Given the description of an element on the screen output the (x, y) to click on. 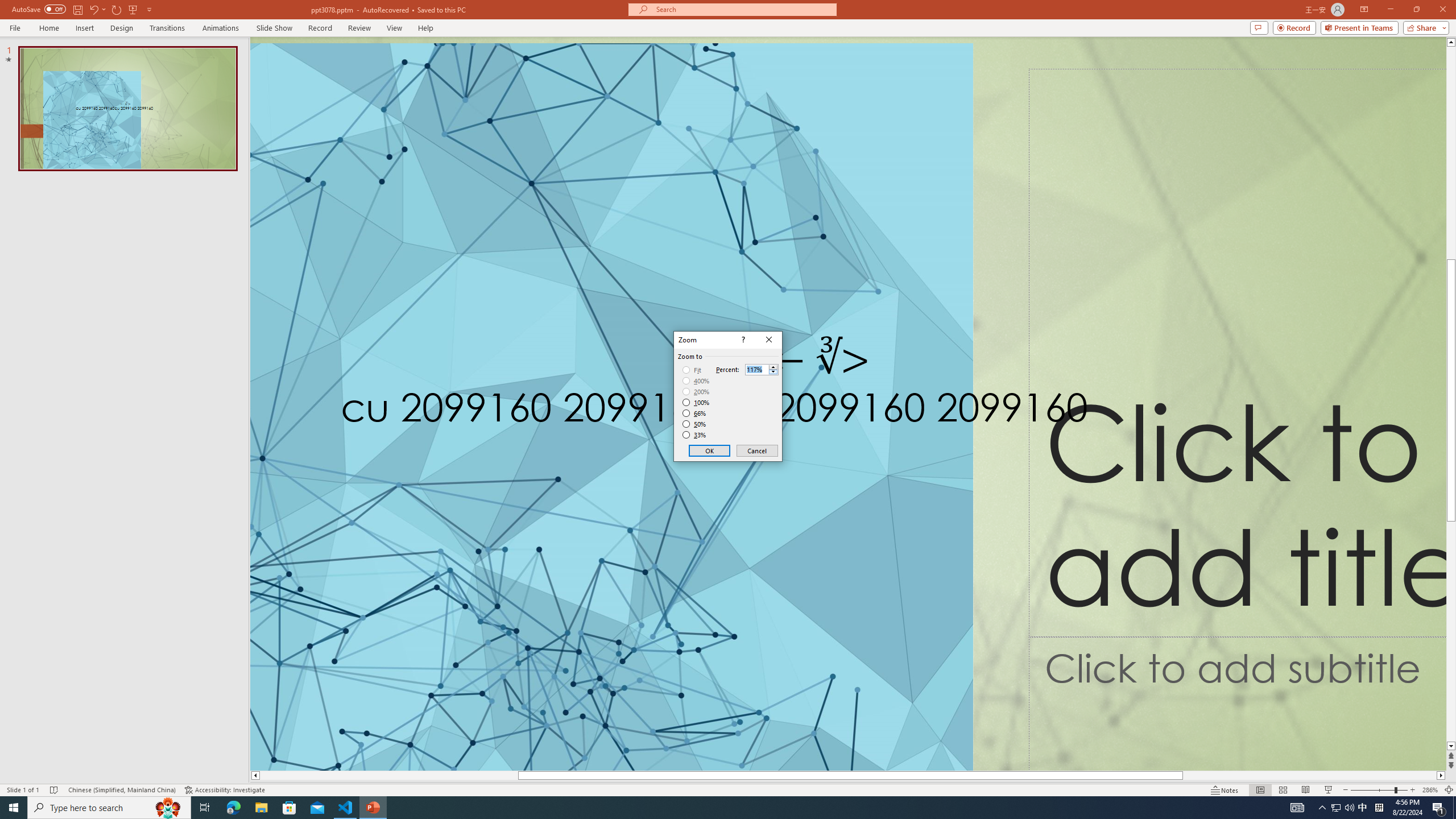
Percent (761, 369)
100% (696, 402)
33% (694, 434)
